Given the description of an element on the screen output the (x, y) to click on. 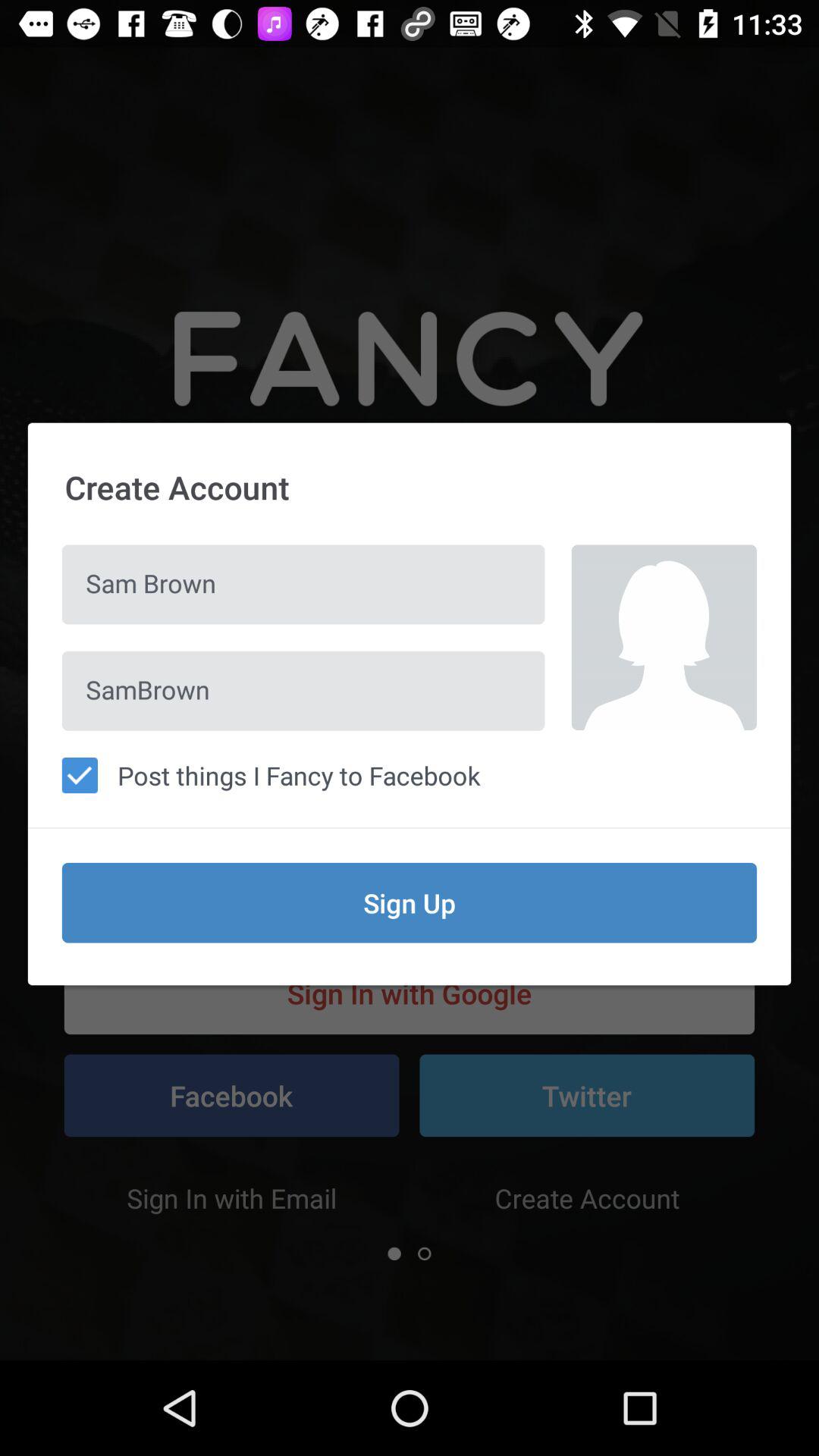
press the item below the create account icon (302, 584)
